Given the description of an element on the screen output the (x, y) to click on. 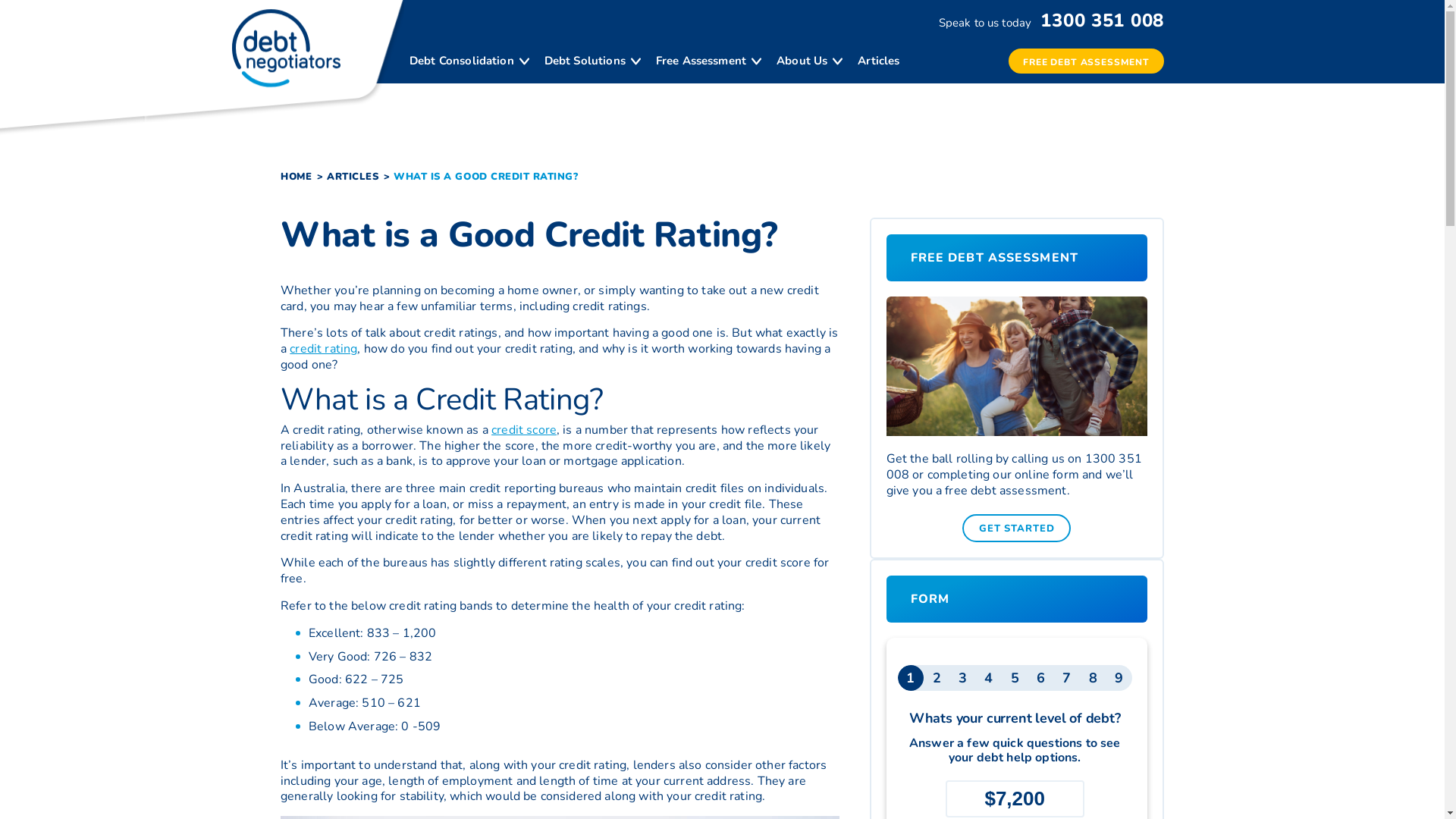
ARTICLES Element type: text (352, 176)
1300 351 008 Element type: text (1099, 20)
credit score Element type: text (523, 429)
Articles Element type: text (878, 60)
Free Assessment Element type: text (700, 60)
Debt Consolidation Element type: text (461, 60)
FREE DEBT ASSESSMENT Element type: text (1086, 60)
Debt Solutions Element type: text (584, 60)
credit rating Element type: text (323, 348)
HOME Element type: text (295, 176)
About Us Element type: text (801, 60)
GET STARTED Element type: text (1016, 528)
